Given the description of an element on the screen output the (x, y) to click on. 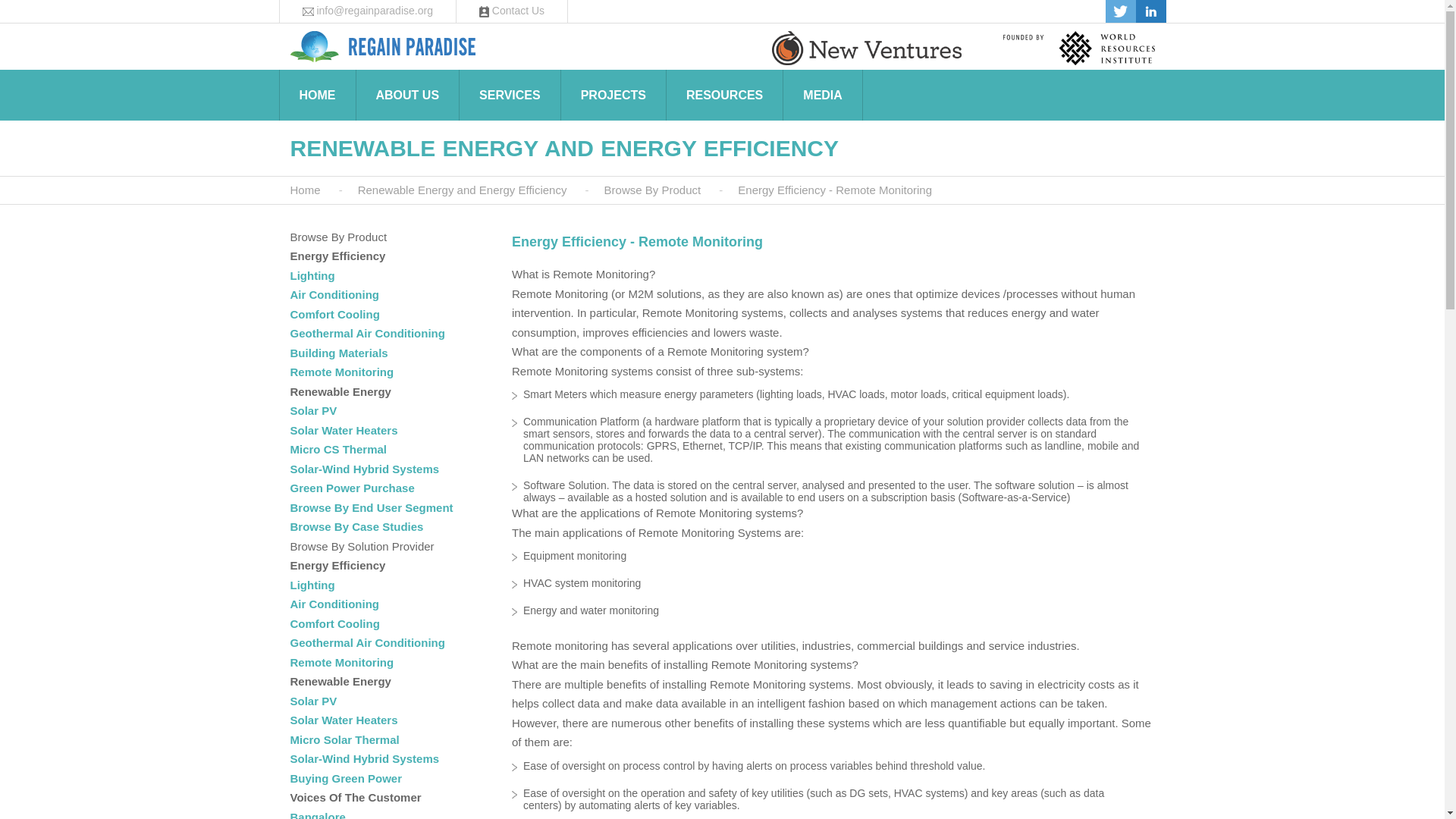
Solar PV (312, 410)
Air Conditioning (333, 294)
SERVICES (509, 95)
Remote Monitoring (341, 371)
ABOUT US (407, 95)
Geothermal Air Conditioning (366, 332)
Green Power Purchase (351, 487)
Lighting (311, 584)
Micro CS Thermal (338, 449)
HOME (316, 95)
